Given the description of an element on the screen output the (x, y) to click on. 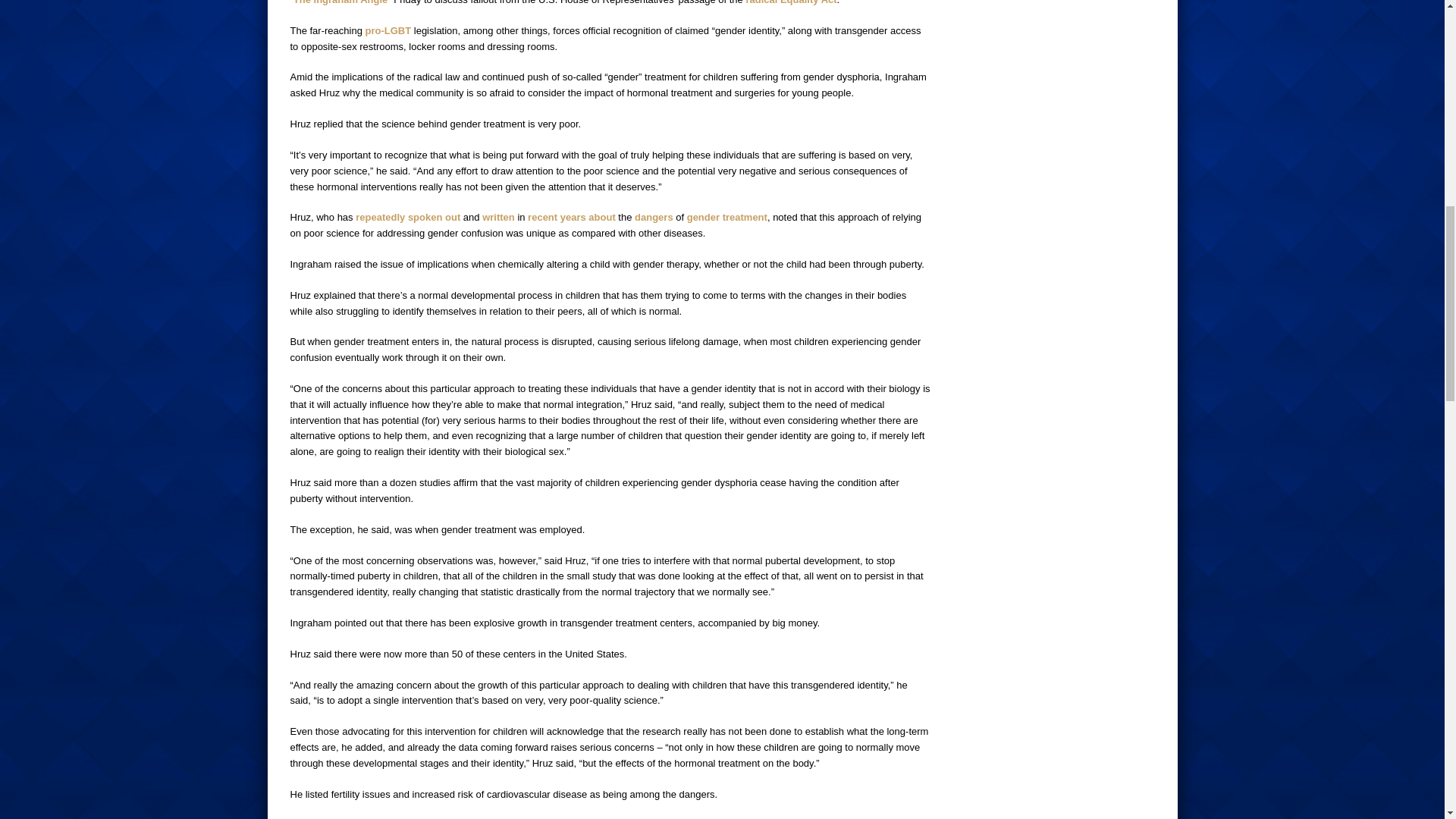
The Ingraham Angle (340, 2)
Equality Act (808, 2)
pro-LGBT (388, 30)
radical (761, 2)
gender treatment (727, 216)
dangers (653, 216)
recent years (556, 216)
repeatedly (379, 216)
written (498, 216)
about (601, 216)
